Given the description of an element on the screen output the (x, y) to click on. 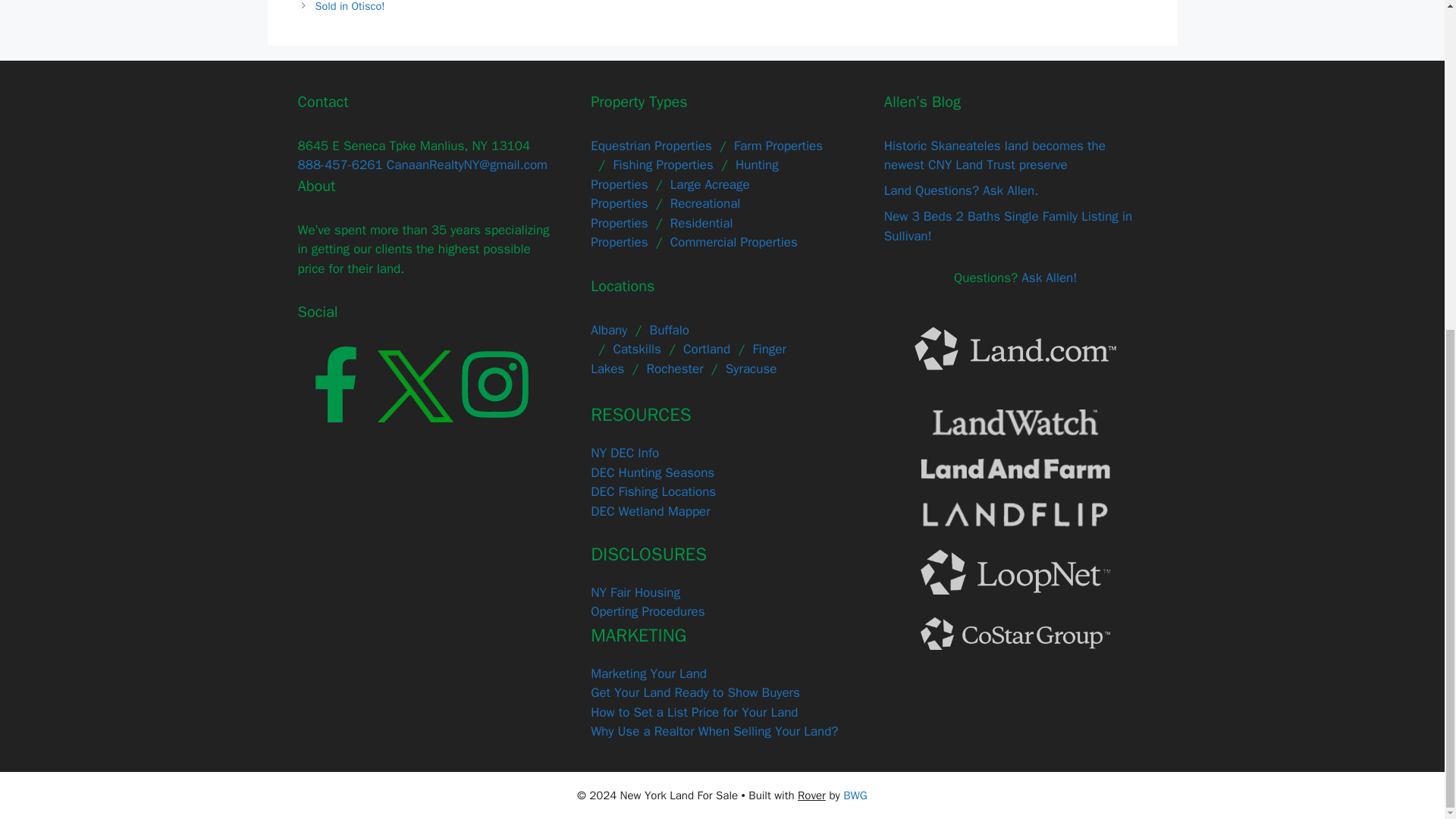
Equestrian Properties (651, 145)
Website Design Boston (854, 795)
Fishing Properties (662, 164)
Recreational Properties (665, 212)
Hunting Properties (684, 174)
888-457-6261 (339, 164)
Large Acreage Properties (670, 194)
Farm Properties (777, 145)
Sold in Otisco! (350, 6)
